Given the description of an element on the screen output the (x, y) to click on. 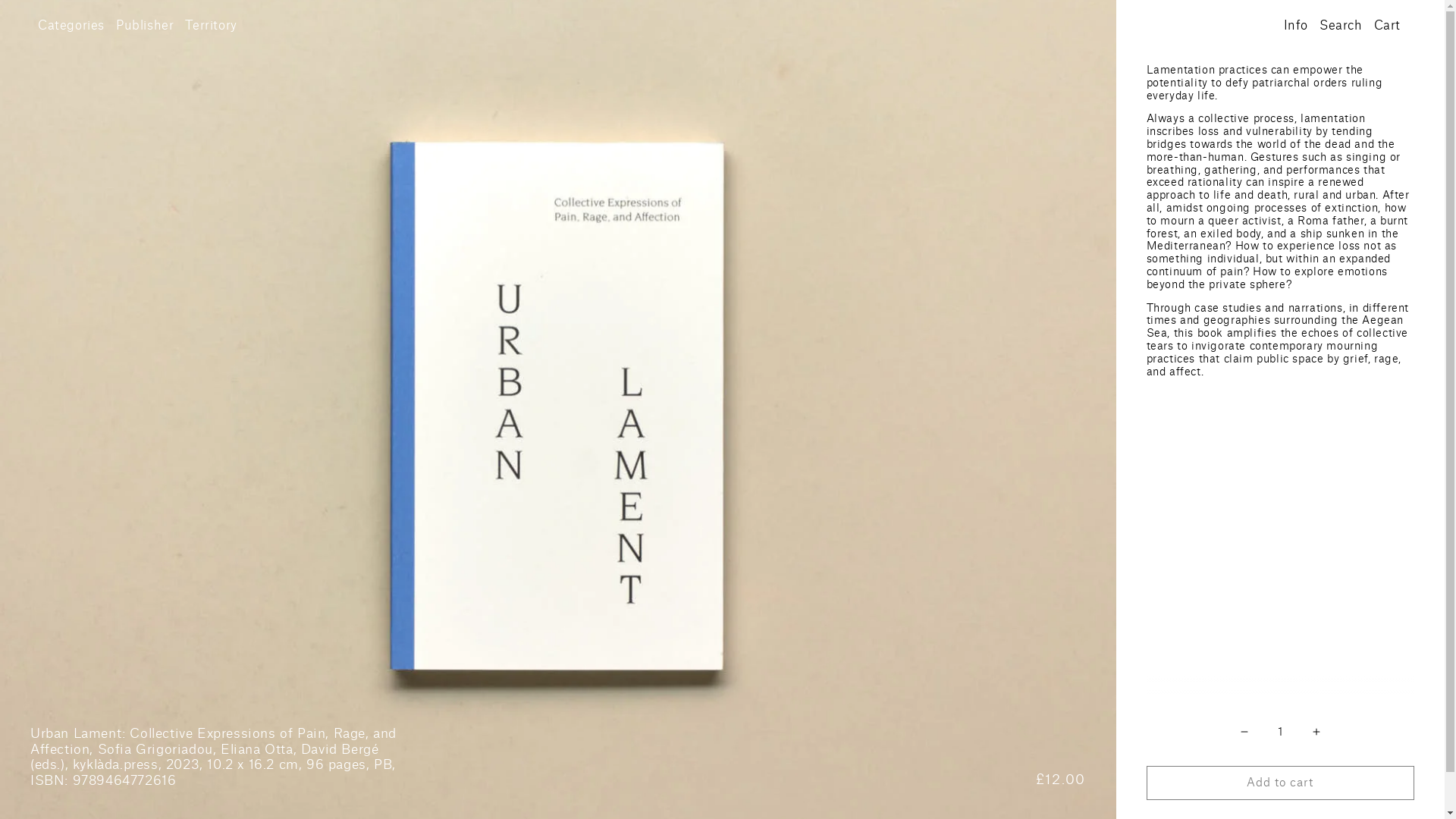
1 (1279, 731)
Skip to content (45, 16)
Categories (70, 25)
Publisher (144, 25)
